Given the description of an element on the screen output the (x, y) to click on. 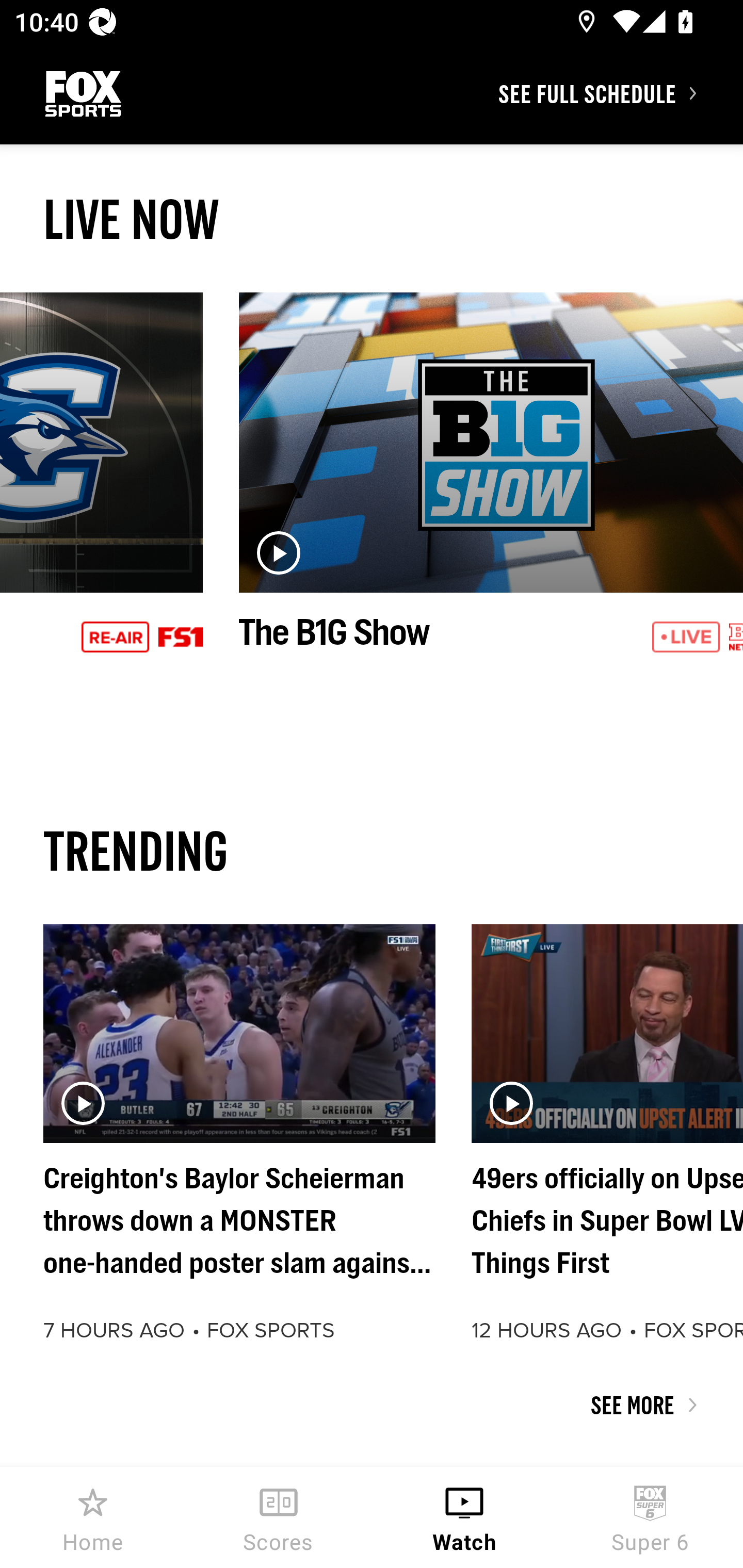
SEE FULL SCHEDULE (620, 93)
LIVE NOW (371, 218)
The B1G Show (491, 494)
TRENDING (371, 850)
SEE MORE (371, 1404)
Home (92, 1517)
Scores (278, 1517)
Super 6 (650, 1517)
